Given the description of an element on the screen output the (x, y) to click on. 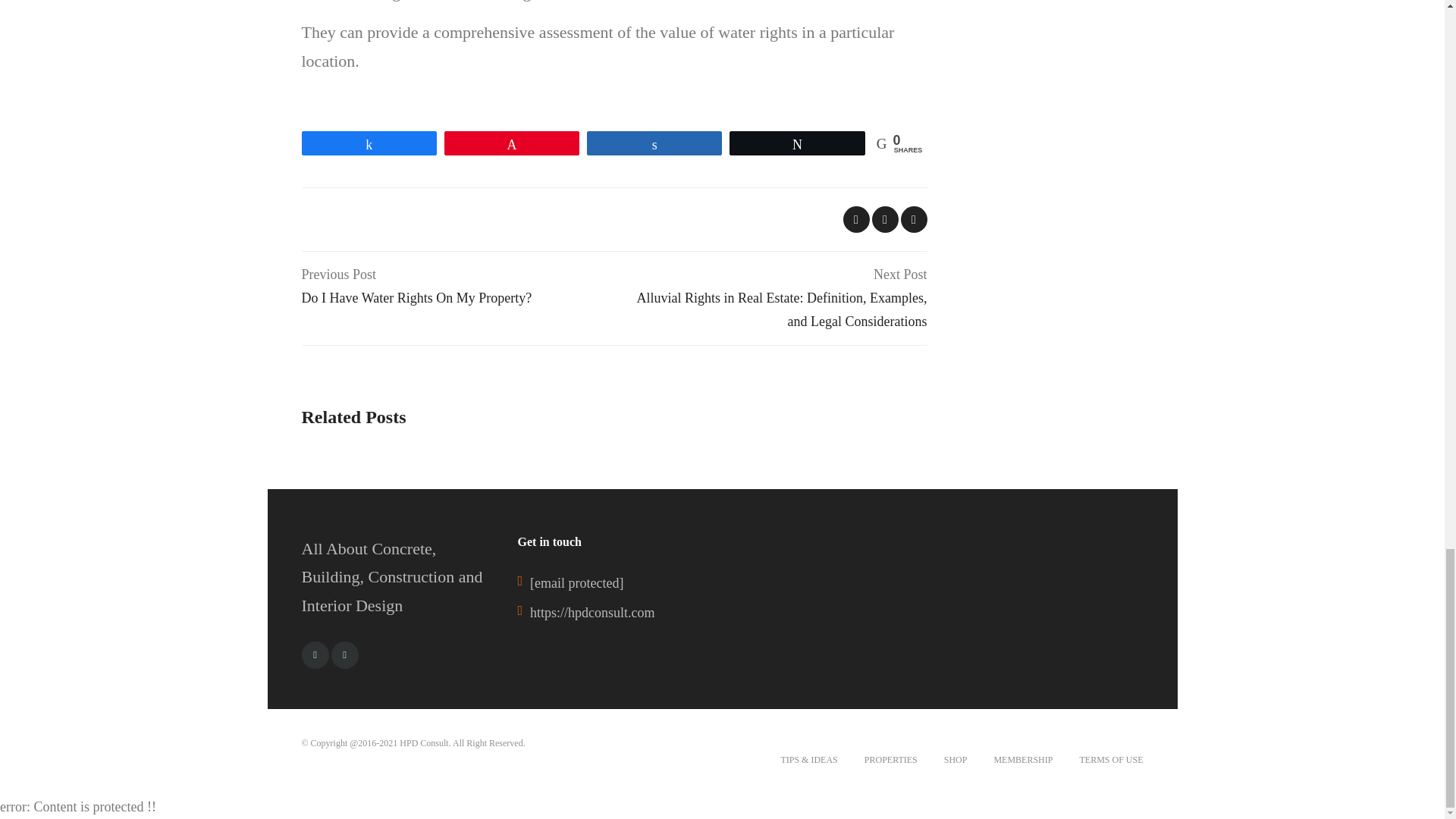
Facebook (315, 655)
Twitter (457, 286)
